Given the description of an element on the screen output the (x, y) to click on. 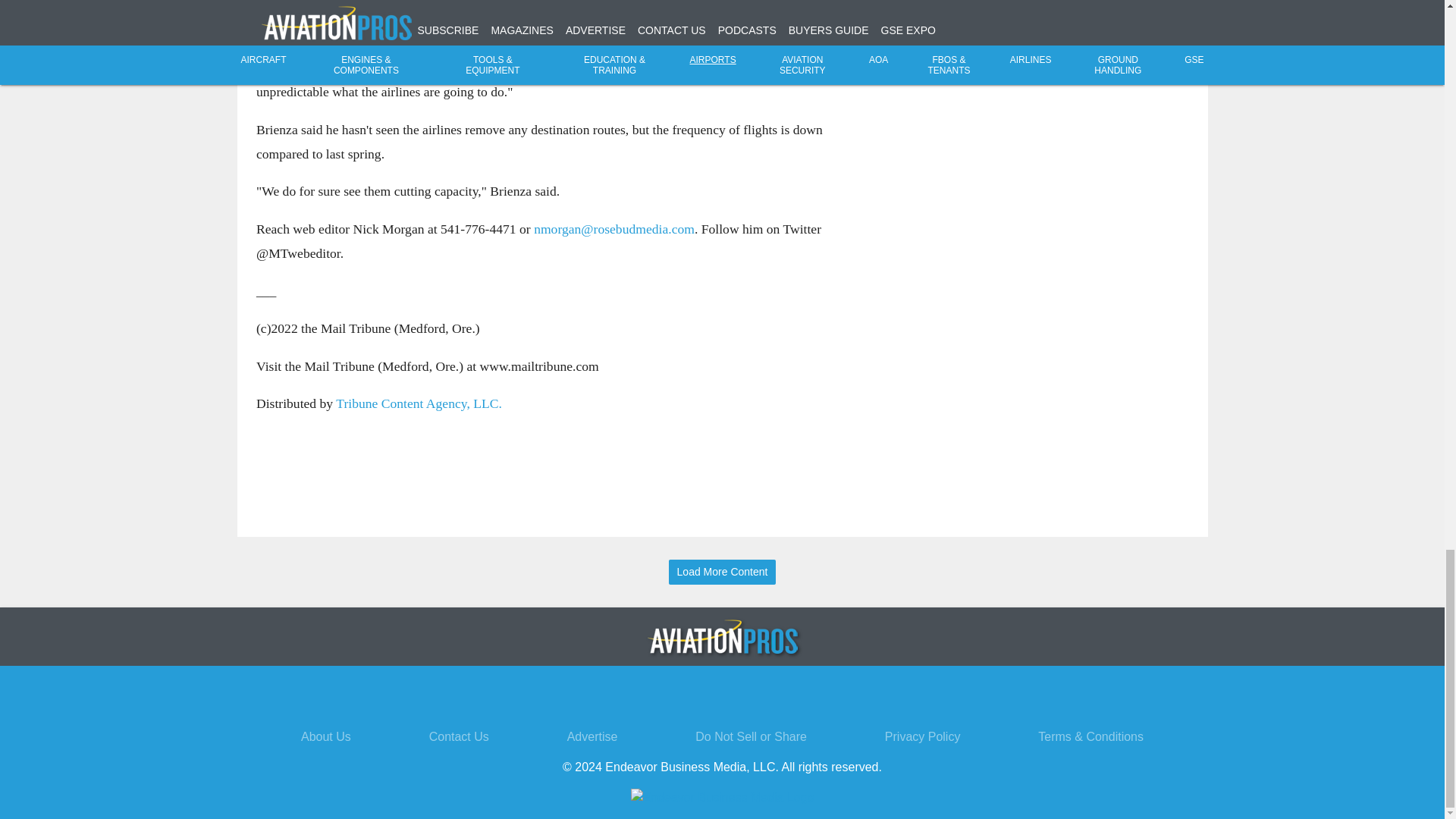
Tribune Content Agency, LLC. (419, 403)
